Given the description of an element on the screen output the (x, y) to click on. 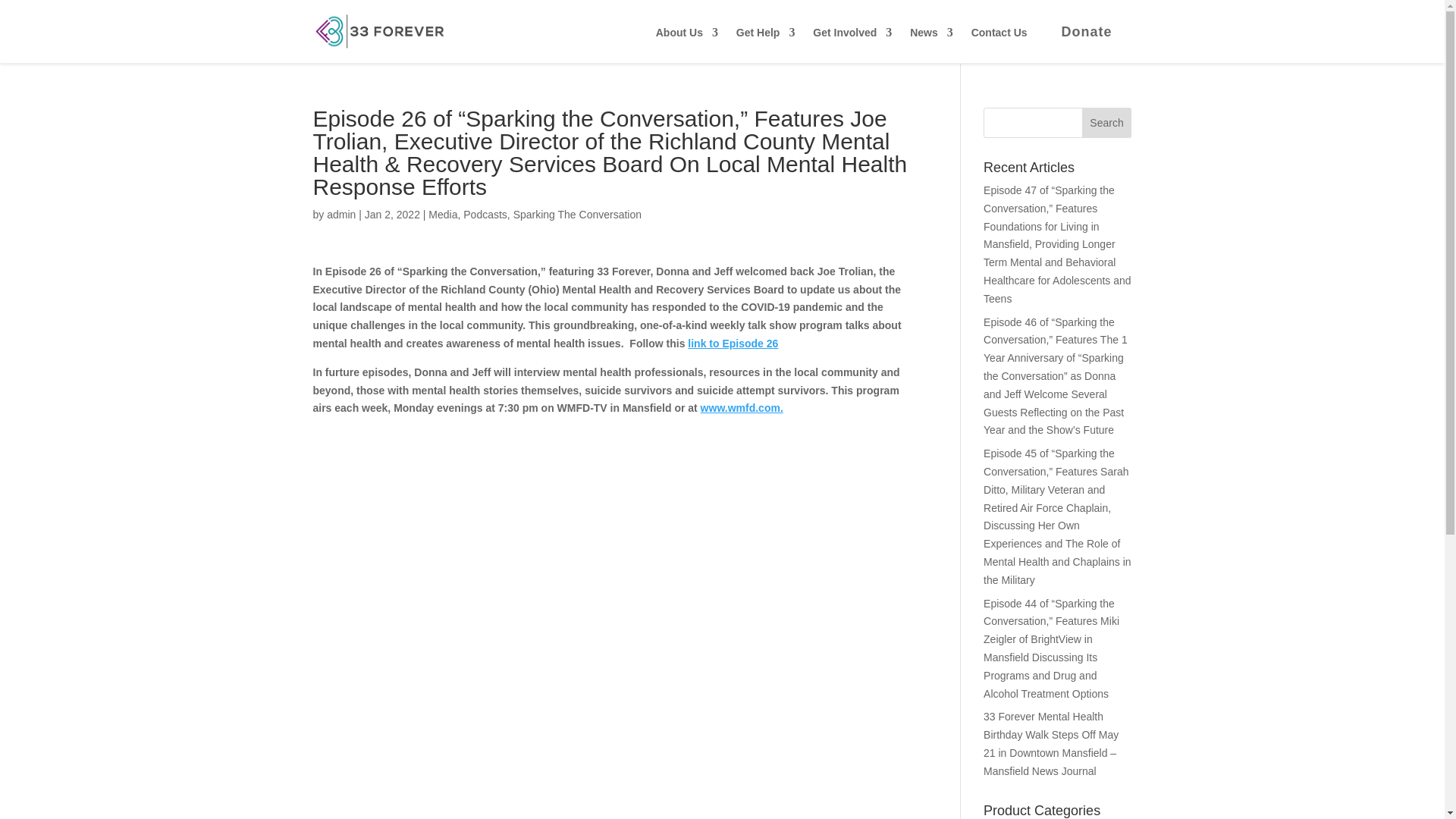
Contact Us (999, 45)
Donate (1086, 31)
Get Involved (851, 45)
Search (1106, 122)
News (931, 45)
Posts by admin (340, 214)
About Us (686, 45)
Get Help (765, 45)
